Given the description of an element on the screen output the (x, y) to click on. 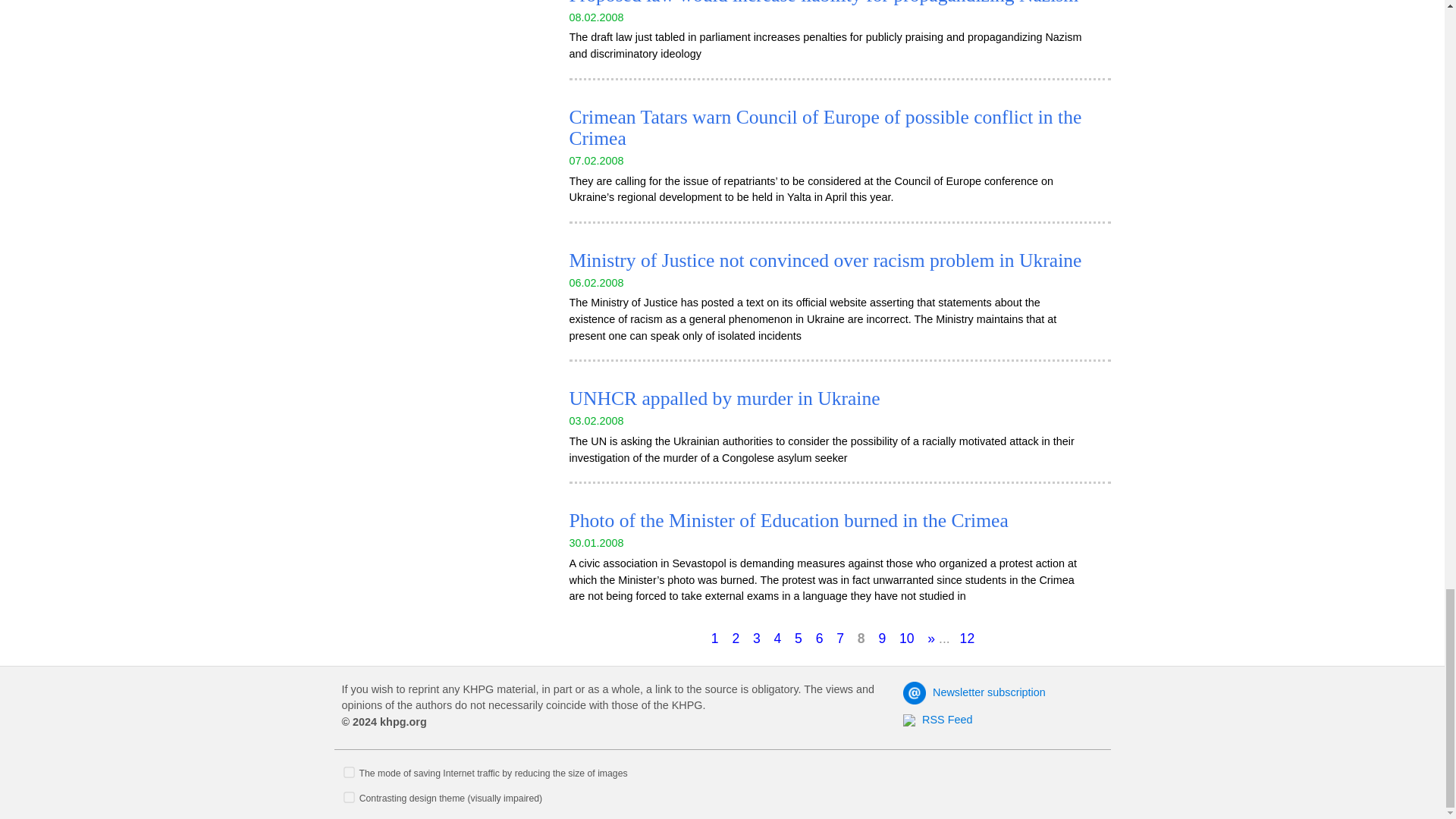
1 (348, 772)
1 (348, 797)
